Given the description of an element on the screen output the (x, y) to click on. 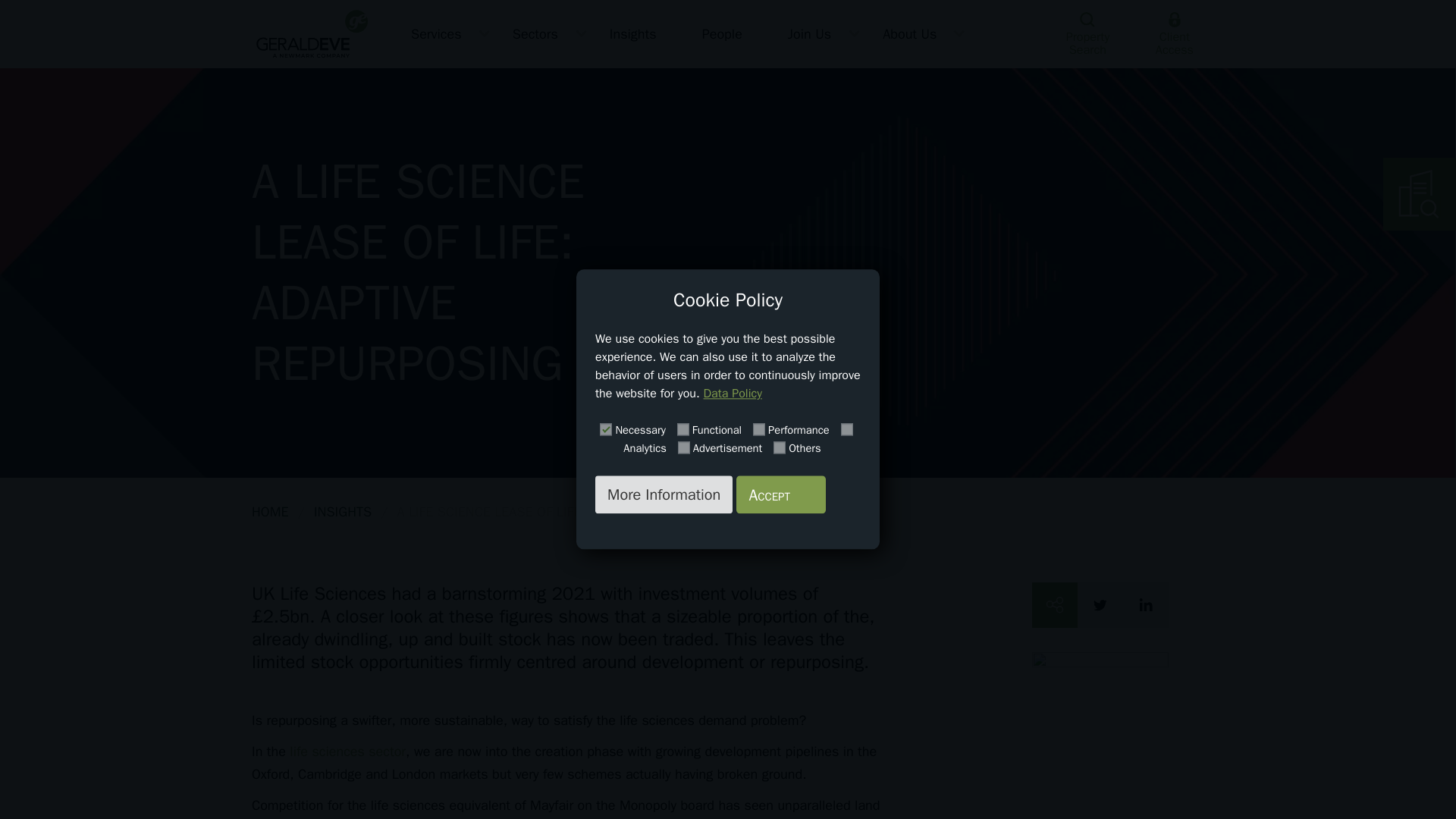
on (684, 447)
on (847, 428)
on (682, 428)
on (605, 428)
Services (438, 33)
on (779, 447)
on (758, 428)
